Given the description of an element on the screen output the (x, y) to click on. 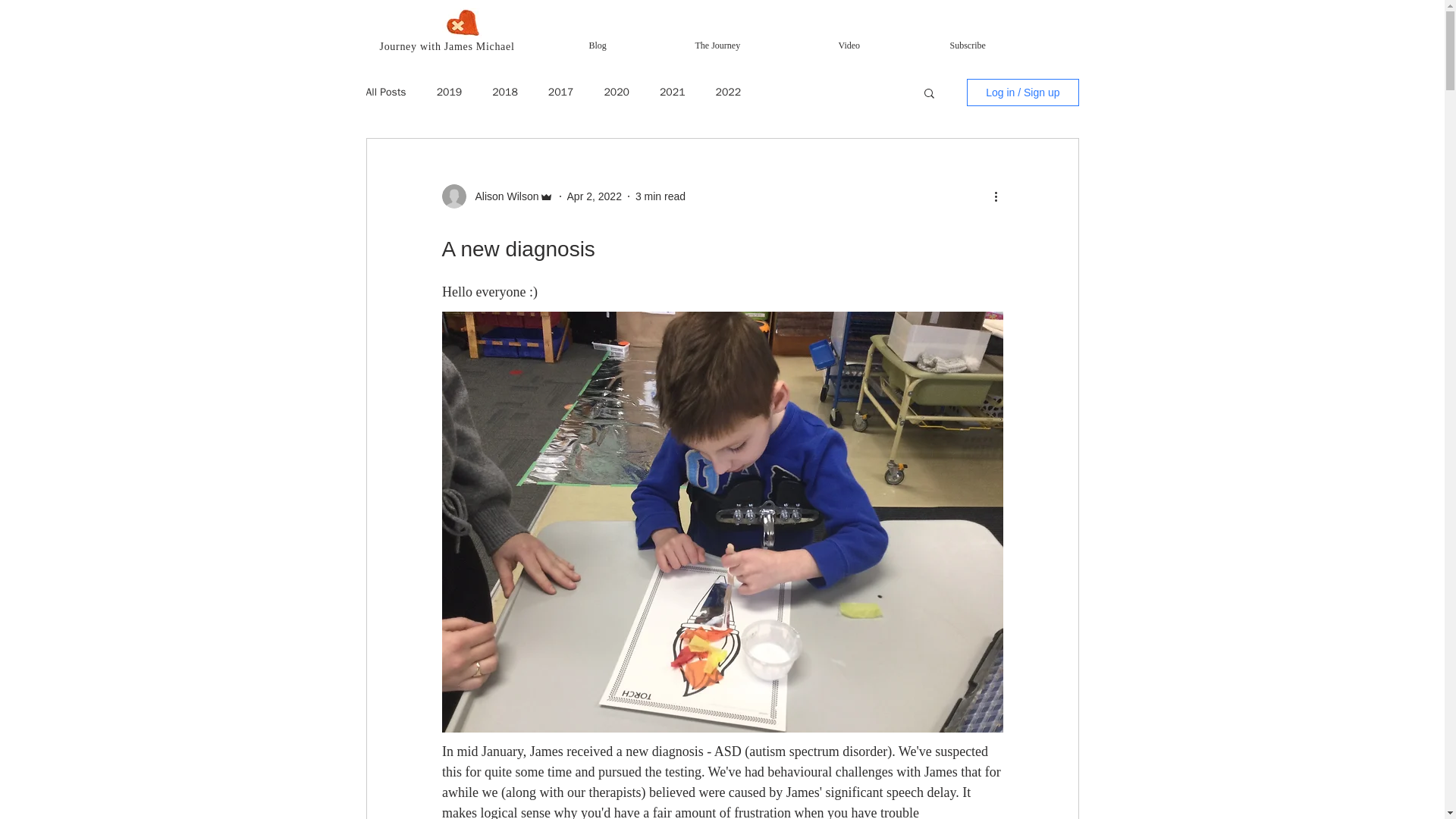
Apr 2, 2022 (594, 196)
2021 (672, 92)
Journey with James Michael (445, 46)
All Posts (385, 92)
Blog (633, 44)
2019 (449, 92)
2022 (728, 92)
2018 (505, 92)
3 min read (659, 196)
2020 (616, 92)
2017 (560, 92)
Alison Wilson (501, 196)
